Given the description of an element on the screen output the (x, y) to click on. 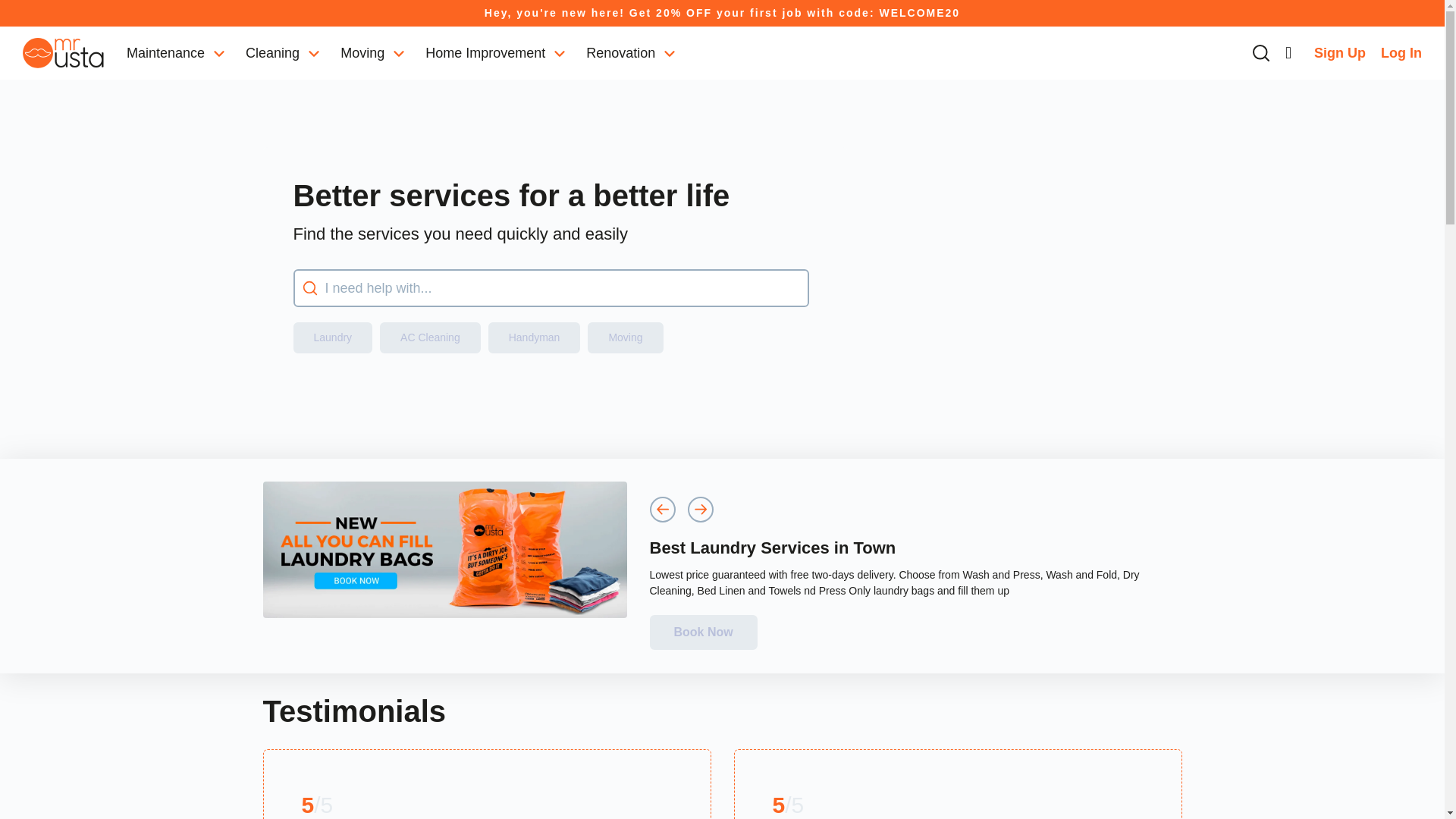
Cleaning (282, 52)
Moving (372, 52)
Maintenance (175, 52)
Cleaning (282, 52)
Maintenance (175, 52)
Home Improvement (494, 52)
mrusta logo (63, 52)
Moving (372, 52)
Renovation (630, 52)
